Given the description of an element on the screen output the (x, y) to click on. 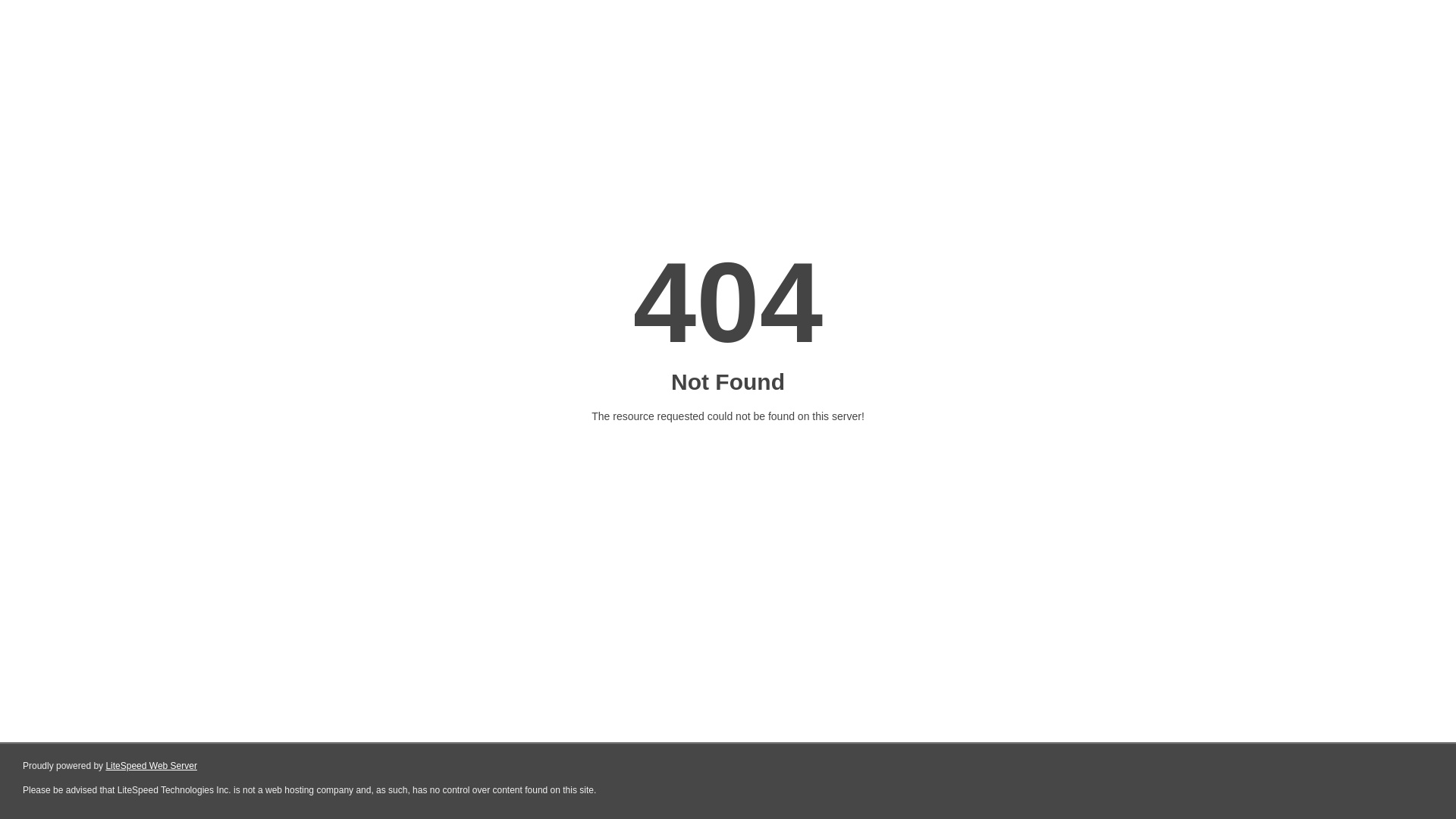
LiteSpeed Web Server Element type: text (151, 765)
